Given the description of an element on the screen output the (x, y) to click on. 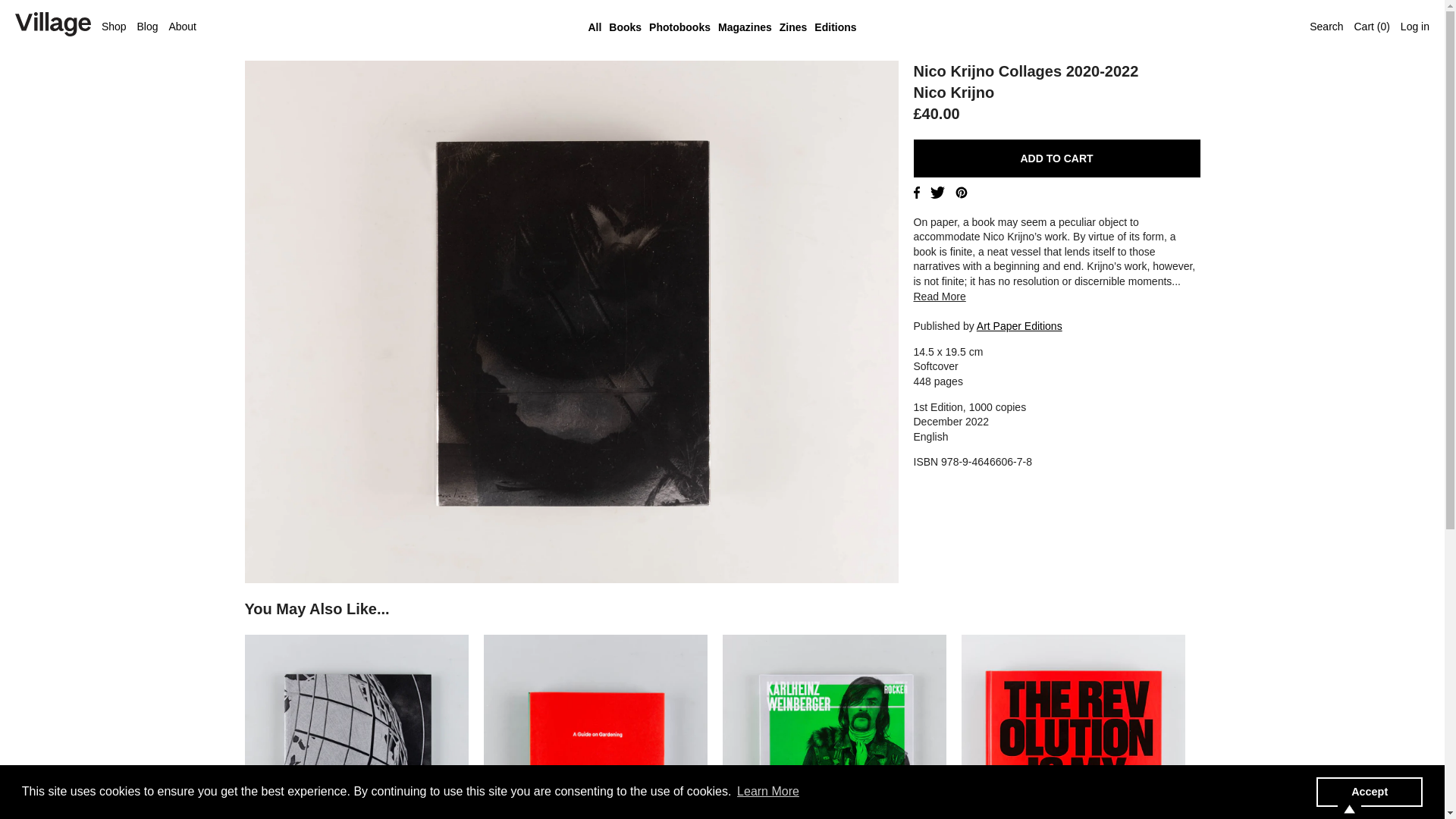
Learn More (768, 791)
About (182, 26)
Blog (146, 26)
Home (52, 26)
All (594, 28)
Add to Cart (1055, 158)
Blog (146, 26)
Log in (1414, 26)
Shop (113, 26)
Photobooks (679, 28)
Shop (113, 26)
Magazines (745, 28)
Shop for All (594, 28)
Accept (1369, 791)
About (182, 26)
